Given the description of an element on the screen output the (x, y) to click on. 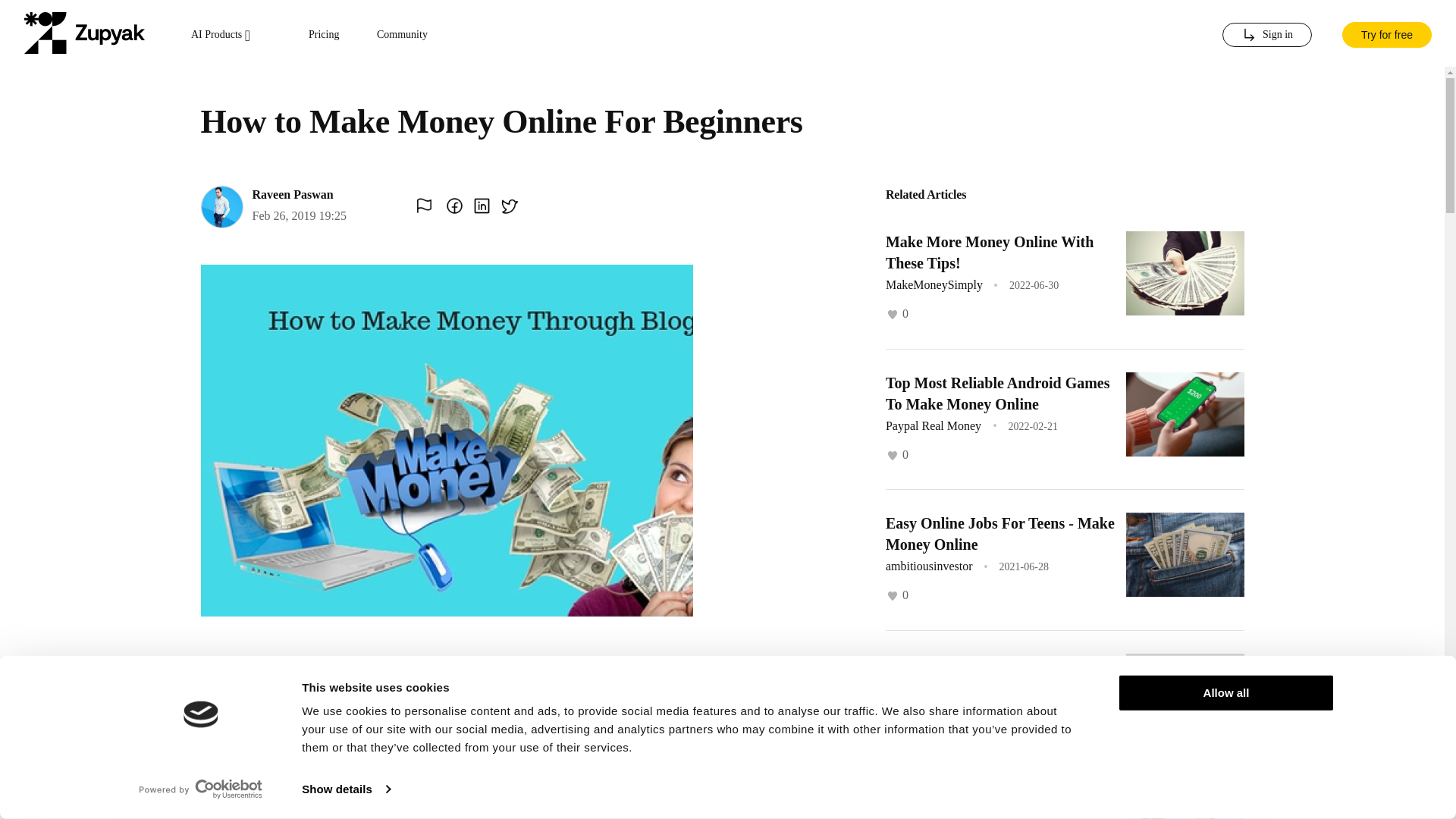
How to make money online: 20 proven ways (985, 807)
Show details (345, 789)
Easy Online Jobs For Teens - Make Money Online (1000, 533)
Make More Money Online With These Tips! (989, 252)
How to Make Money Through Blogging? (983, 673)
Top Most Reliable Android Games To Make Money Online (997, 393)
